Given the description of an element on the screen output the (x, y) to click on. 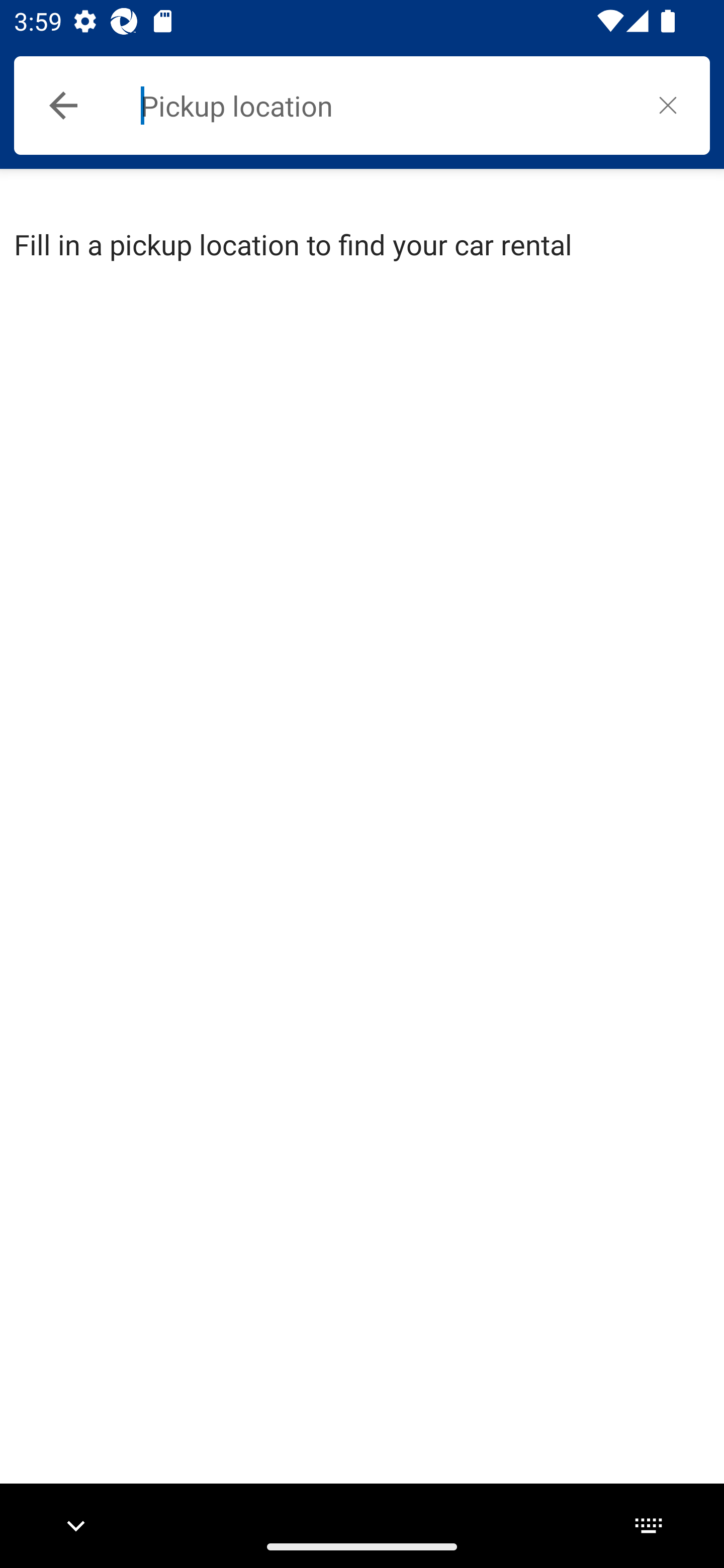
Navigate up (62, 105)
놕 (667, 104)
Pickup location (382, 105)
